Given the description of an element on the screen output the (x, y) to click on. 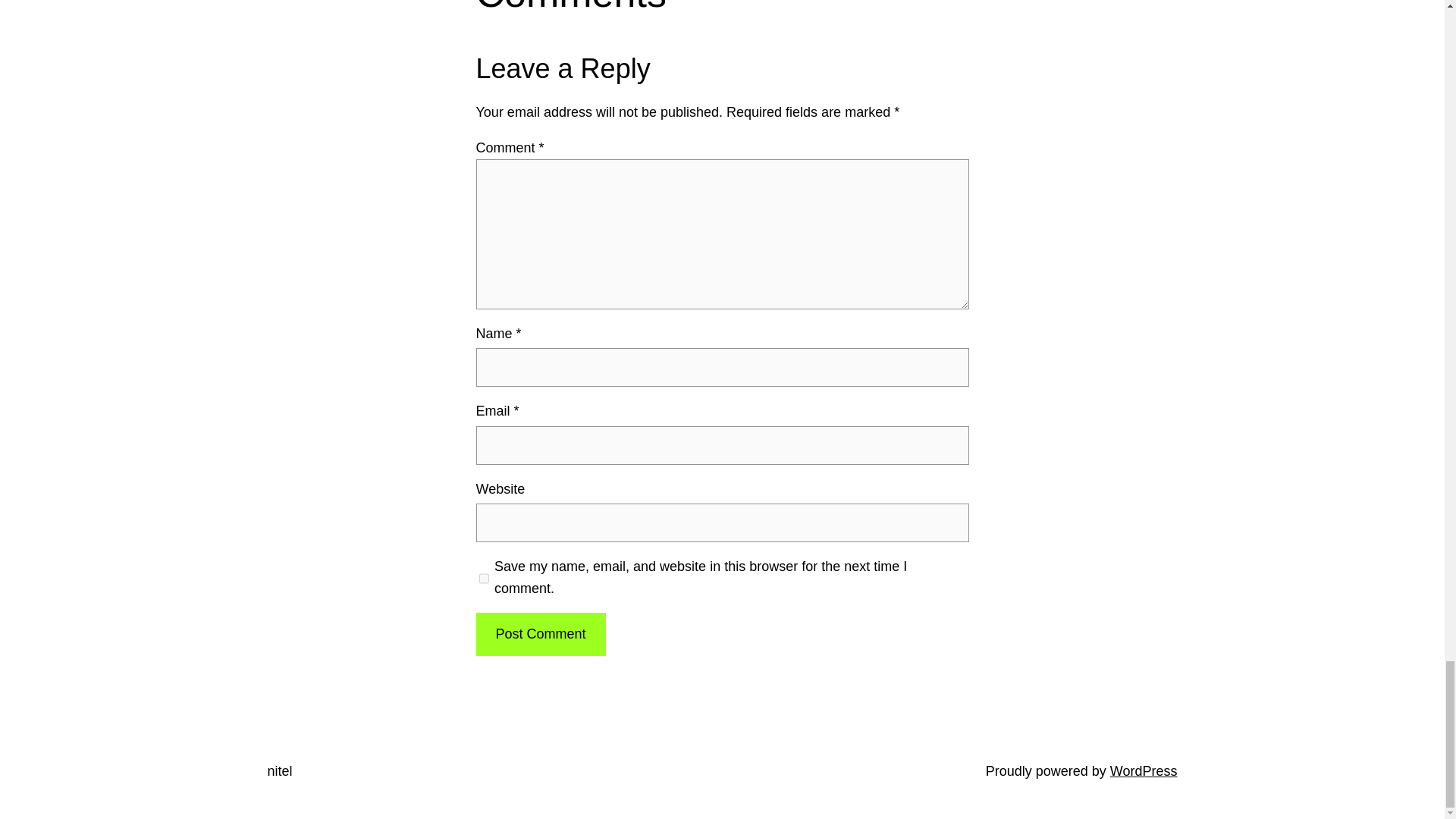
nitel (279, 770)
WordPress (1143, 770)
Post Comment (540, 634)
Post Comment (540, 634)
